Given the description of an element on the screen output the (x, y) to click on. 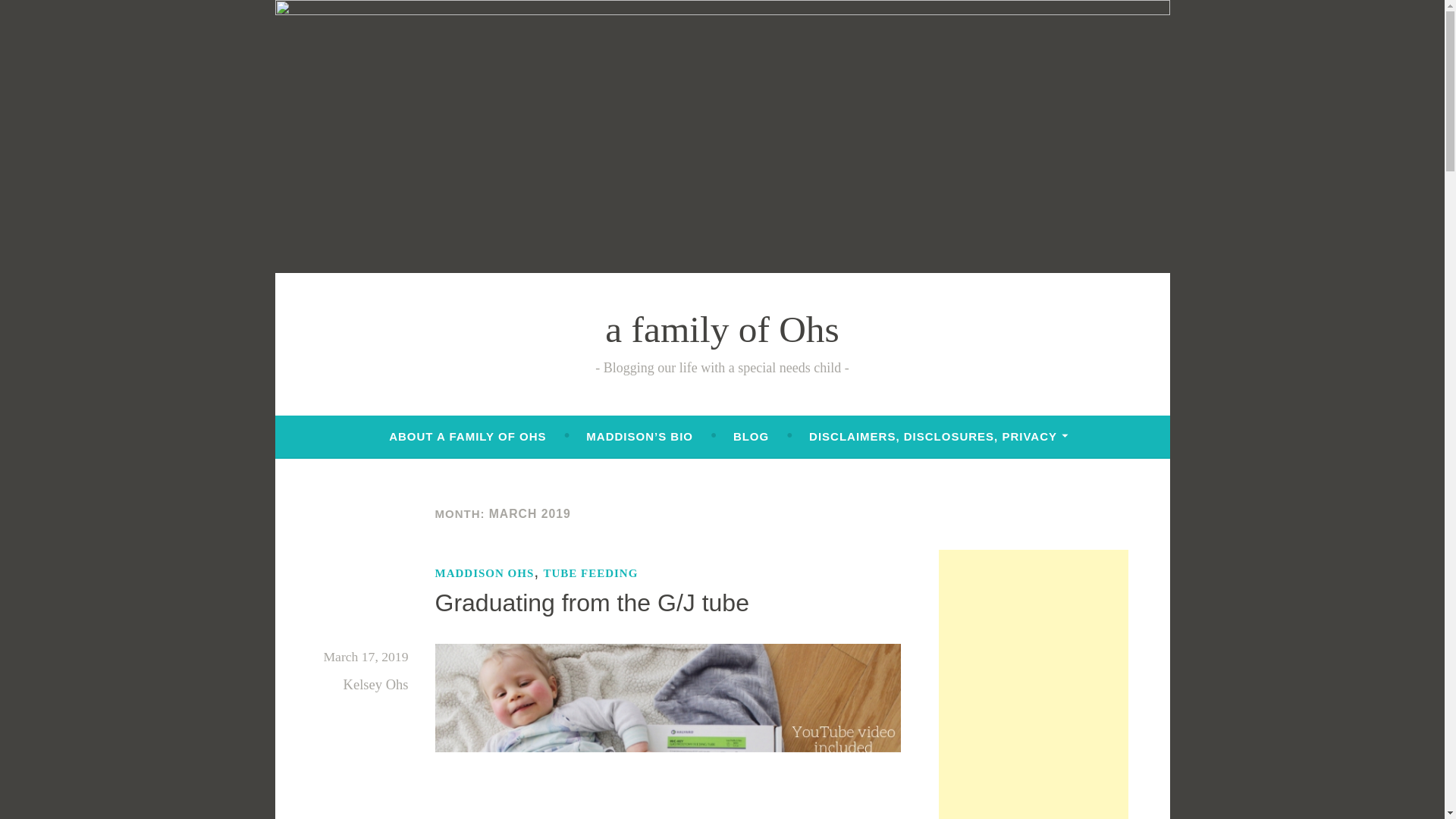
TUBE FEEDING (590, 573)
DISCLAIMERS, DISCLOSURES, PRIVACY (938, 436)
a family of Ohs (721, 329)
Search (37, 15)
BLOG (750, 436)
Kelsey Ohs (376, 684)
MADDISON OHS (484, 573)
ABOUT A FAMILY OF OHS (467, 436)
March 17, 2019 (365, 656)
